Given the description of an element on the screen output the (x, y) to click on. 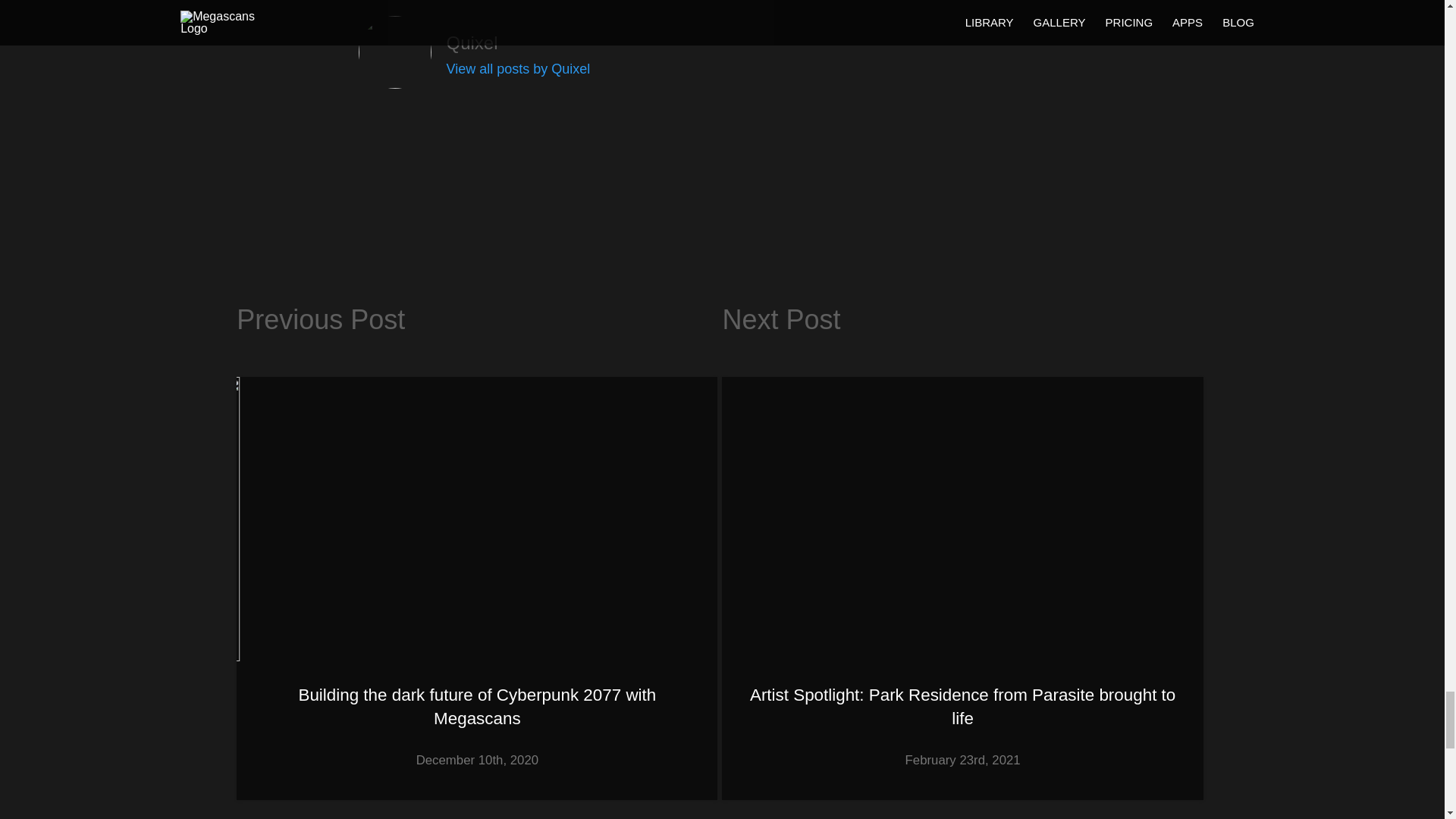
View all posts by Quixel (517, 68)
